Given the description of an element on the screen output the (x, y) to click on. 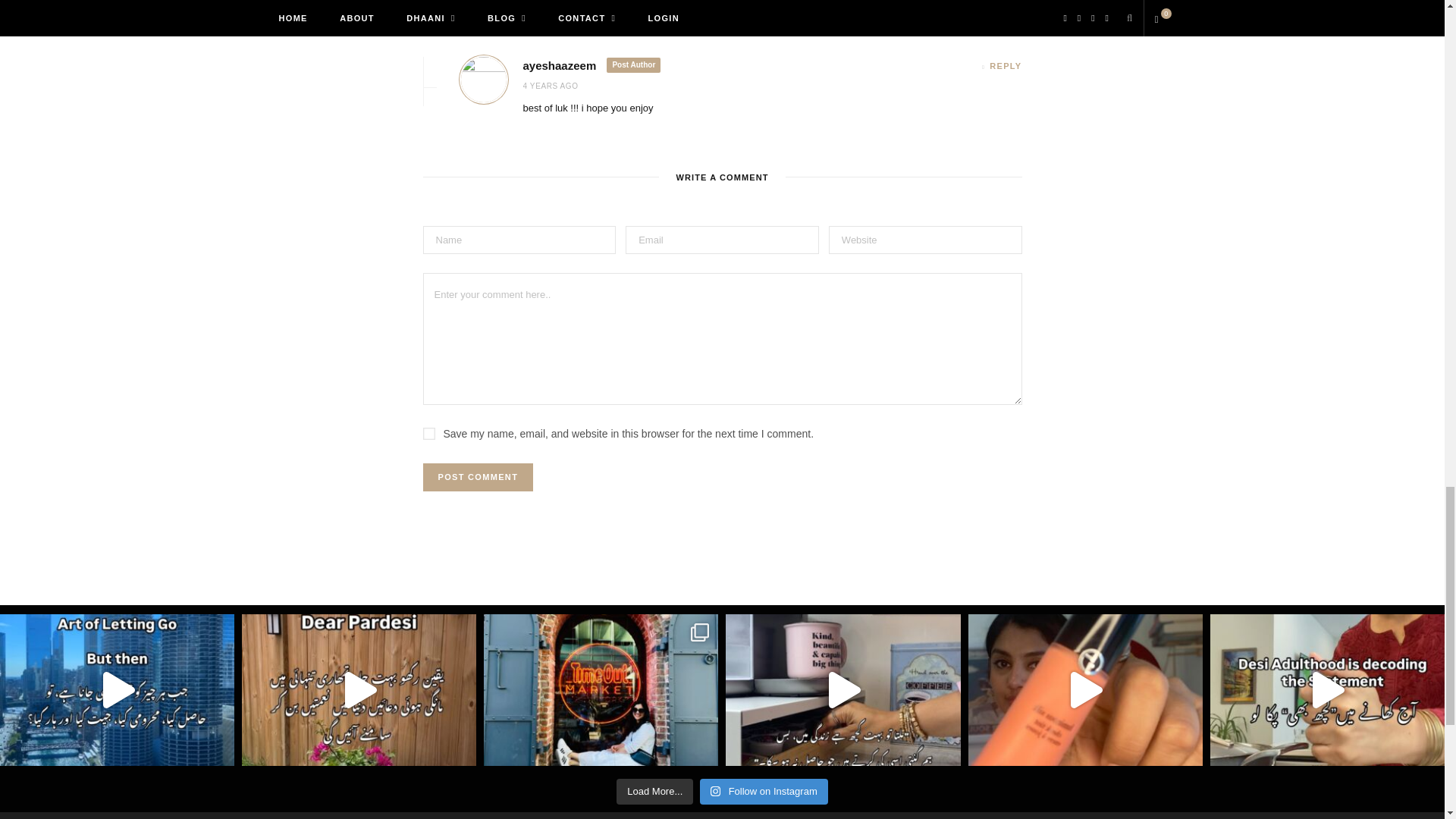
Post Comment (478, 477)
yes (429, 433)
